Given the description of an element on the screen output the (x, y) to click on. 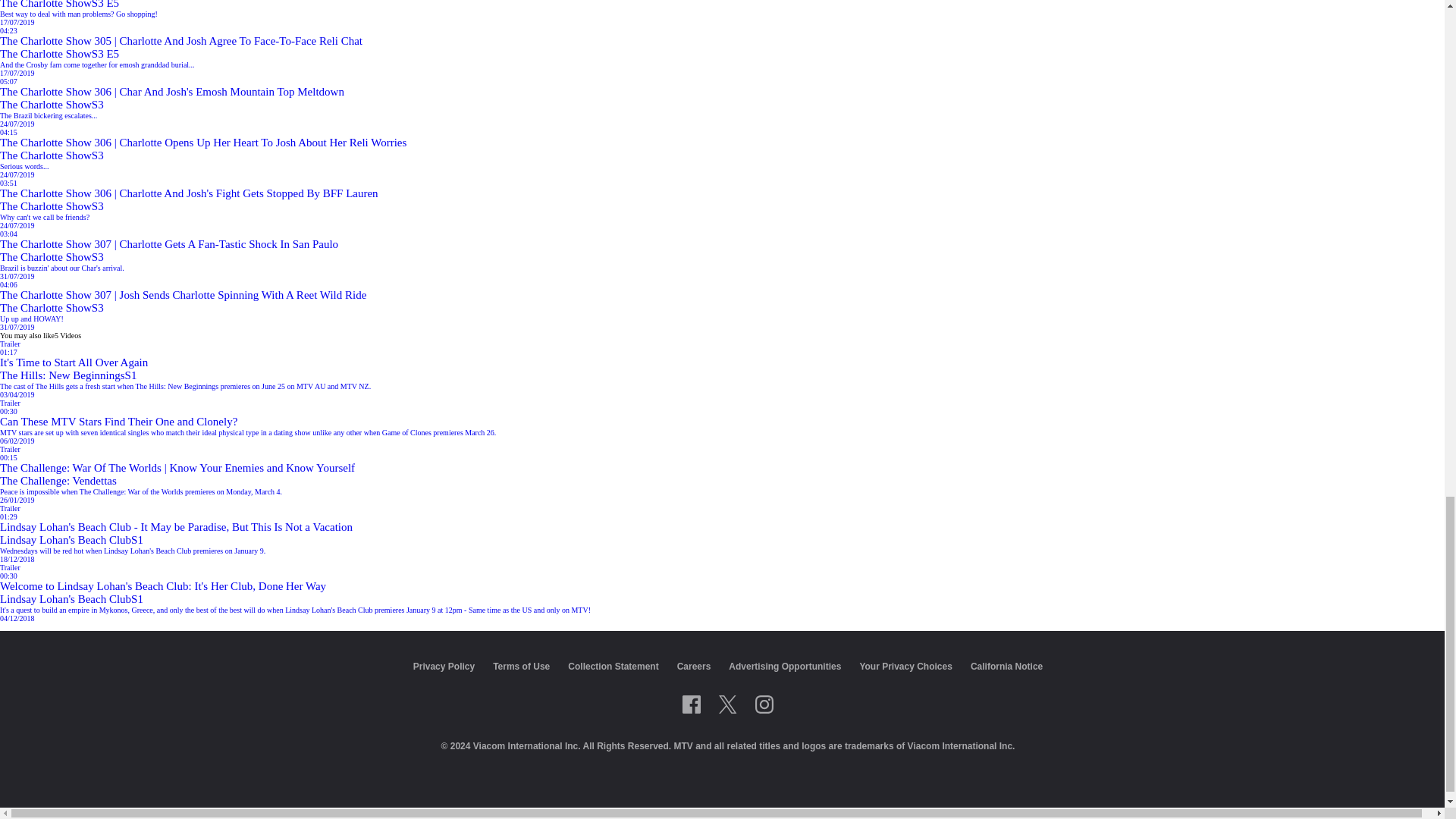
Privacy Policy (443, 665)
Instagram-icon (764, 704)
Twitter-icon (727, 704)
California Notice (1006, 665)
Terms of Use (521, 665)
Careers (694, 665)
Facebook-icon (691, 704)
Advertising Opportunities (785, 665)
Your Privacy Choices (905, 665)
Collection Statement (612, 665)
